Given the description of an element on the screen output the (x, y) to click on. 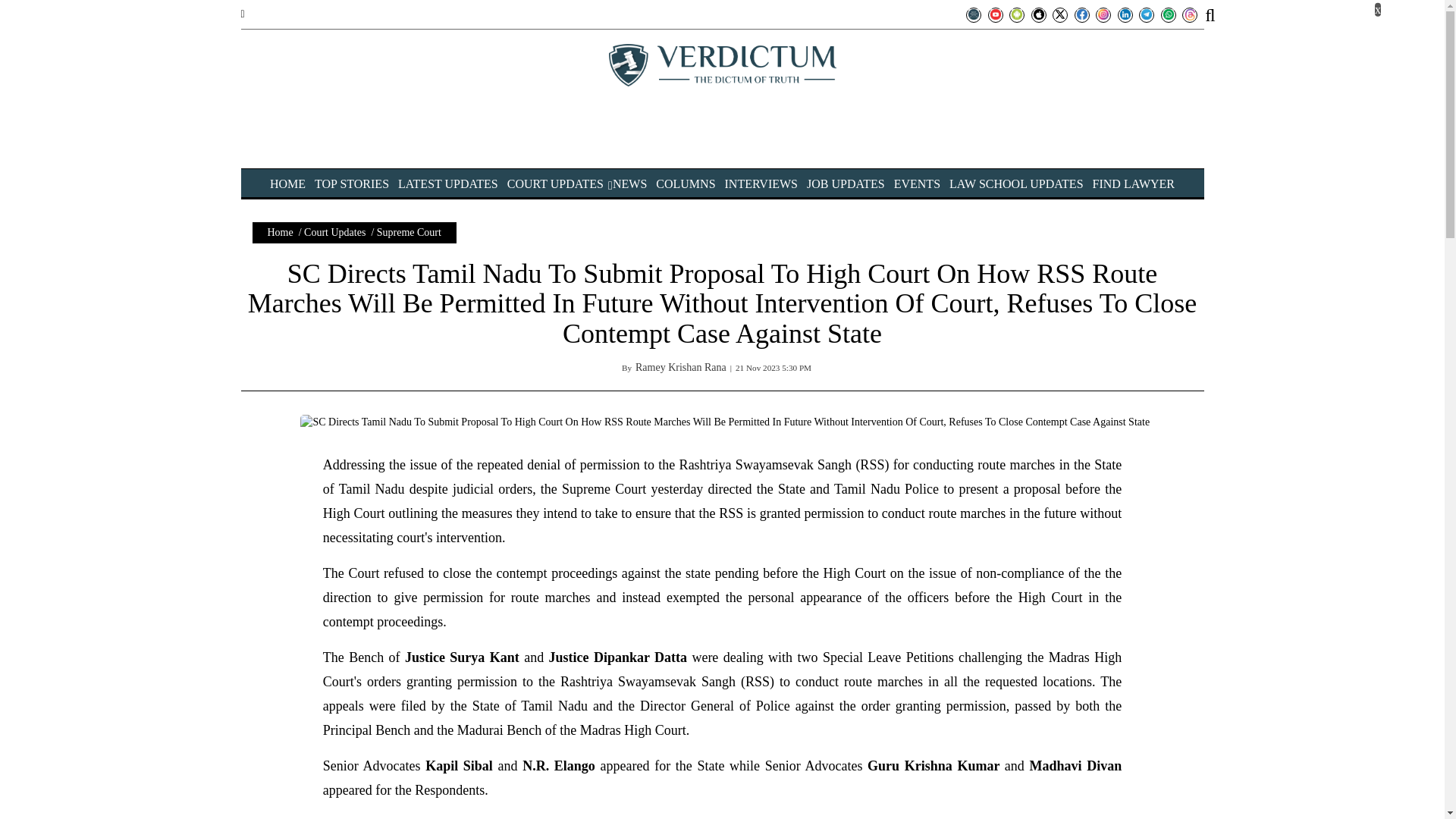
LATEST UPDATES (447, 183)
JOB UPDATES (845, 183)
HOME (287, 183)
INTERVIEWS (761, 183)
EVENTS (916, 183)
COURT UPDATES (555, 183)
COLUMNS (685, 183)
NEWS (629, 183)
TOP STORIES (351, 183)
